Given the description of an element on the screen output the (x, y) to click on. 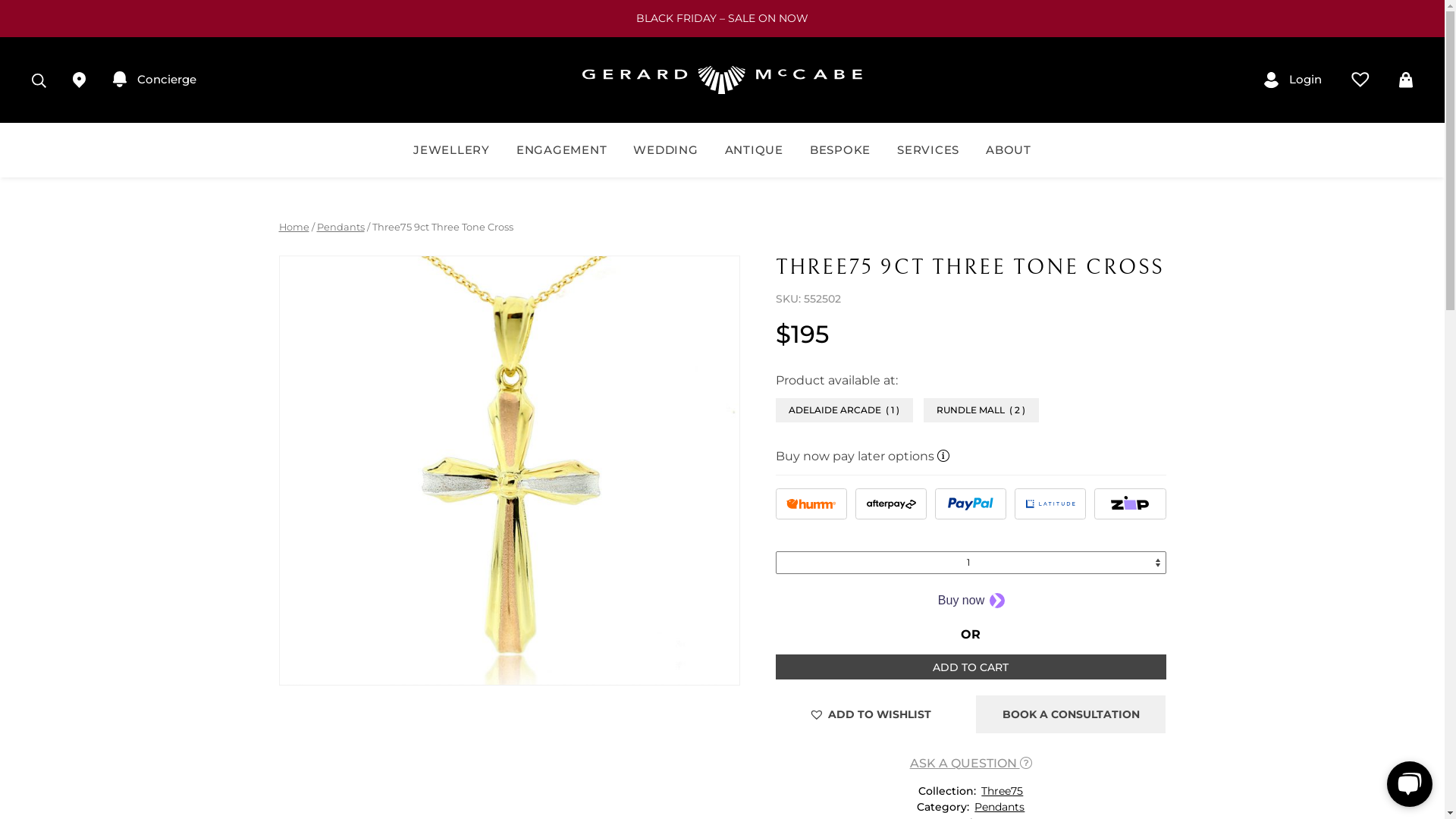
ASK A QUESTION Element type: text (971, 763)
Pendants Element type: text (998, 806)
ABOUT Element type: text (1008, 149)
ADD TO CART Element type: text (970, 667)
ADELAIDE ARCADE  ( 1 ) Element type: text (844, 410)
ANTIQUE Element type: text (753, 149)
Concierge Element type: text (153, 80)
Secure payment button frame Element type: hover (970, 599)
BOOK A CONSULTATION Element type: text (1070, 714)
SERVICES Element type: text (928, 149)
Pendants Element type: text (340, 226)
Three75 Element type: text (1001, 790)
Login Element type: text (1293, 80)
WEDDING Element type: text (665, 149)
RUNDLE MALL  ( 2 ) Element type: text (980, 410)
Home Element type: text (294, 226)
ADD TO WISHLIST Element type: text (870, 714)
JEWELLERY Element type: text (451, 149)
BESPOKE Element type: text (839, 149)
ENGAGEMENT Element type: text (561, 149)
